Given the description of an element on the screen output the (x, y) to click on. 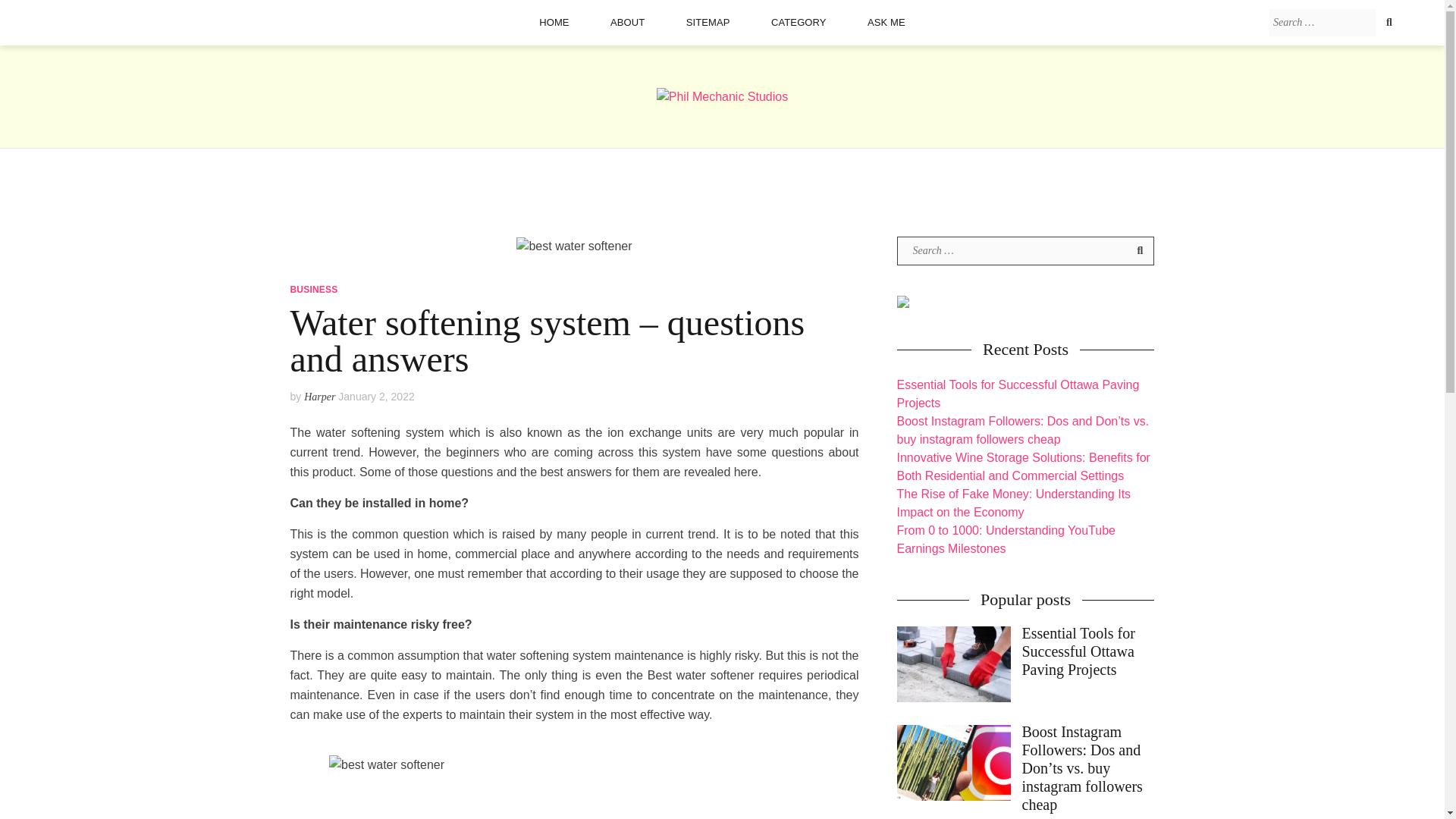
CATEGORY (798, 22)
ABOUT (627, 22)
ASK ME (886, 22)
HOME (553, 22)
Harper (319, 396)
Essential Tools for Successful Ottawa Paving Projects (1025, 663)
BUSINESS (313, 289)
SITEMAP (707, 22)
